Given the description of an element on the screen output the (x, y) to click on. 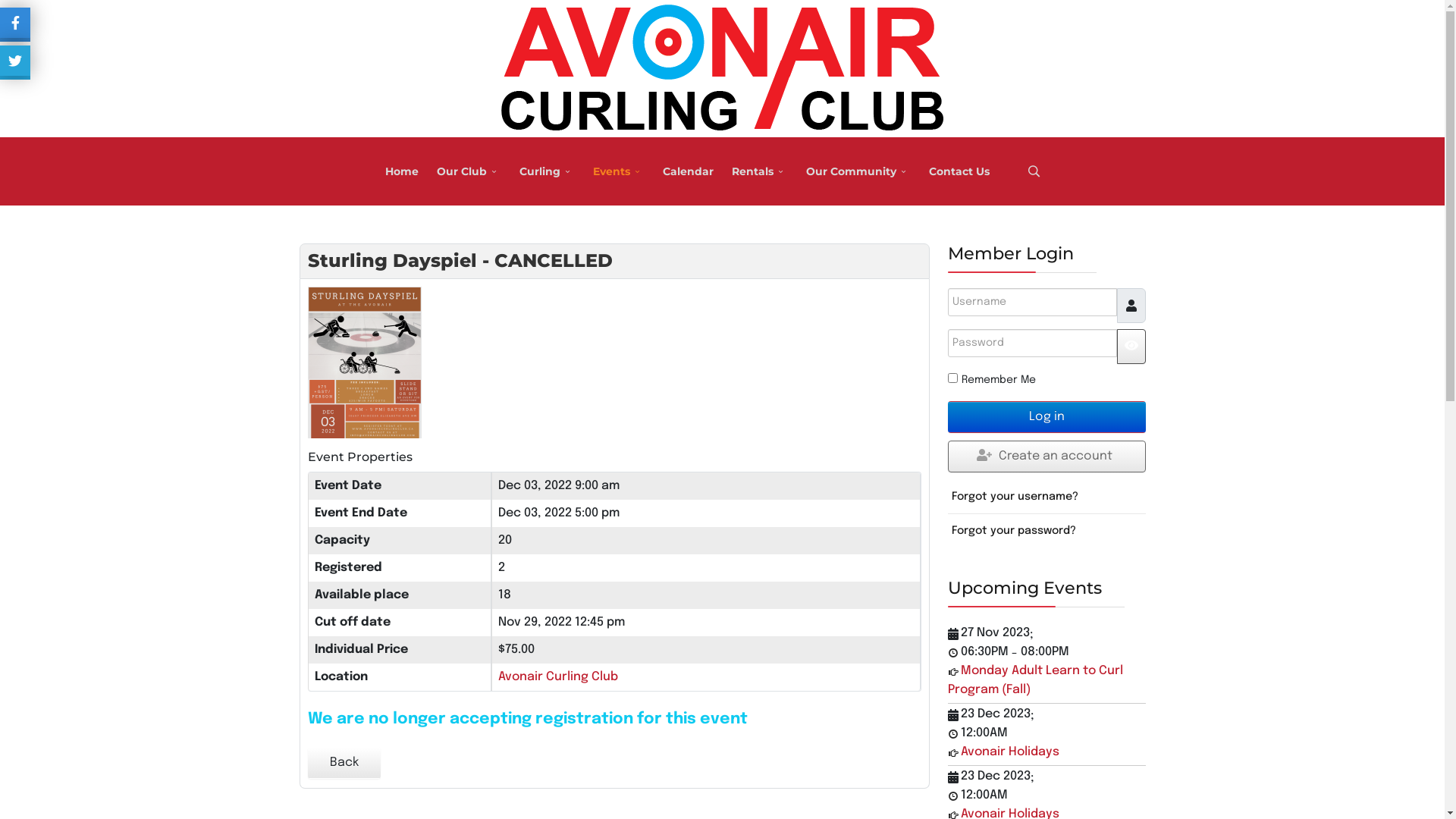
Forgot your password? Element type: text (1046, 530)
Curling Element type: text (546, 171)
Rentals Element type: text (758, 171)
Avonair Holidays Element type: text (1009, 751)
Back Element type: text (343, 762)
Events Element type: text (618, 171)
Home Element type: text (401, 171)
Avonair Curling Club Element type: text (558, 676)
Calendar Element type: text (687, 171)
Username Element type: hover (1130, 305)
Our Community Element type: text (857, 171)
JSHOWPASSWORD Element type: text (1130, 346)
Our Club Element type: text (468, 171)
Monday Adult Learn to Curl Program (Fall) Element type: text (1035, 680)
Forgot your username? Element type: text (1046, 496)
Create an account Element type: text (1046, 456)
Log in Element type: text (1046, 417)
Contact Us Element type: text (958, 171)
